Given the description of an element on the screen output the (x, y) to click on. 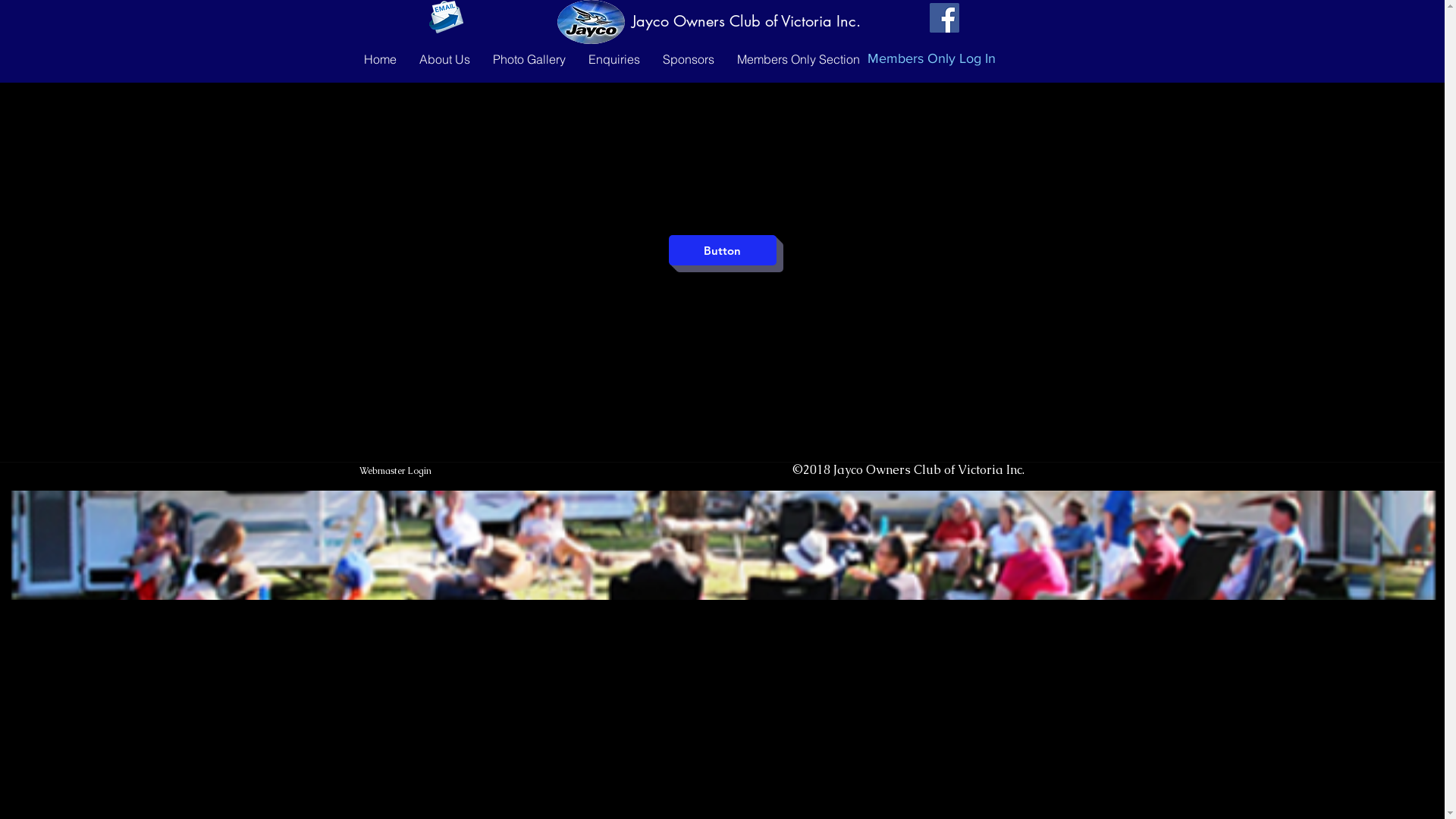
Enquiries Element type: text (613, 54)
Webmaster Login Element type: text (394, 470)
Members Only Log In Element type: text (928, 58)
Home Element type: text (379, 54)
About Us Element type: text (444, 54)
Photo Gallery Element type: text (528, 54)
Sponsors Element type: text (687, 54)
